Given the description of an element on the screen output the (x, y) to click on. 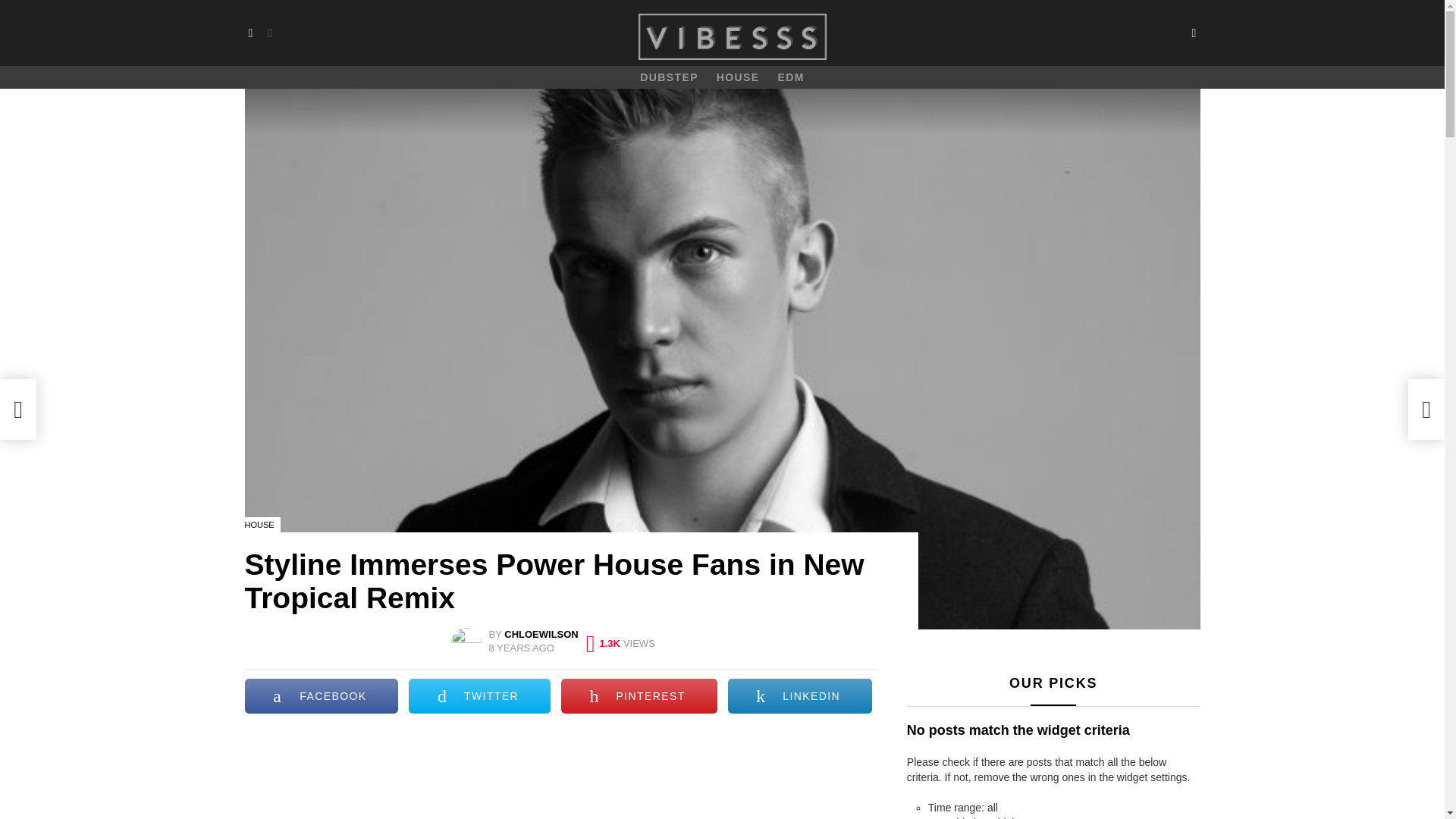
HOUSE (738, 77)
TWITTER (479, 695)
Share on Facebook (320, 695)
Share on LinkedIn (800, 695)
FACEBOOK (320, 695)
Sign up (365, 144)
Posts by chloewilson (540, 633)
Share on Pinterest (638, 695)
Share on Twitter (479, 695)
EDM (790, 77)
HOUSE (261, 524)
CHLOEWILSON (540, 633)
DUBSTEP (668, 77)
PINTEREST (638, 695)
July 17, 2016, 1:06 pm (521, 648)
